Given the description of an element on the screen output the (x, y) to click on. 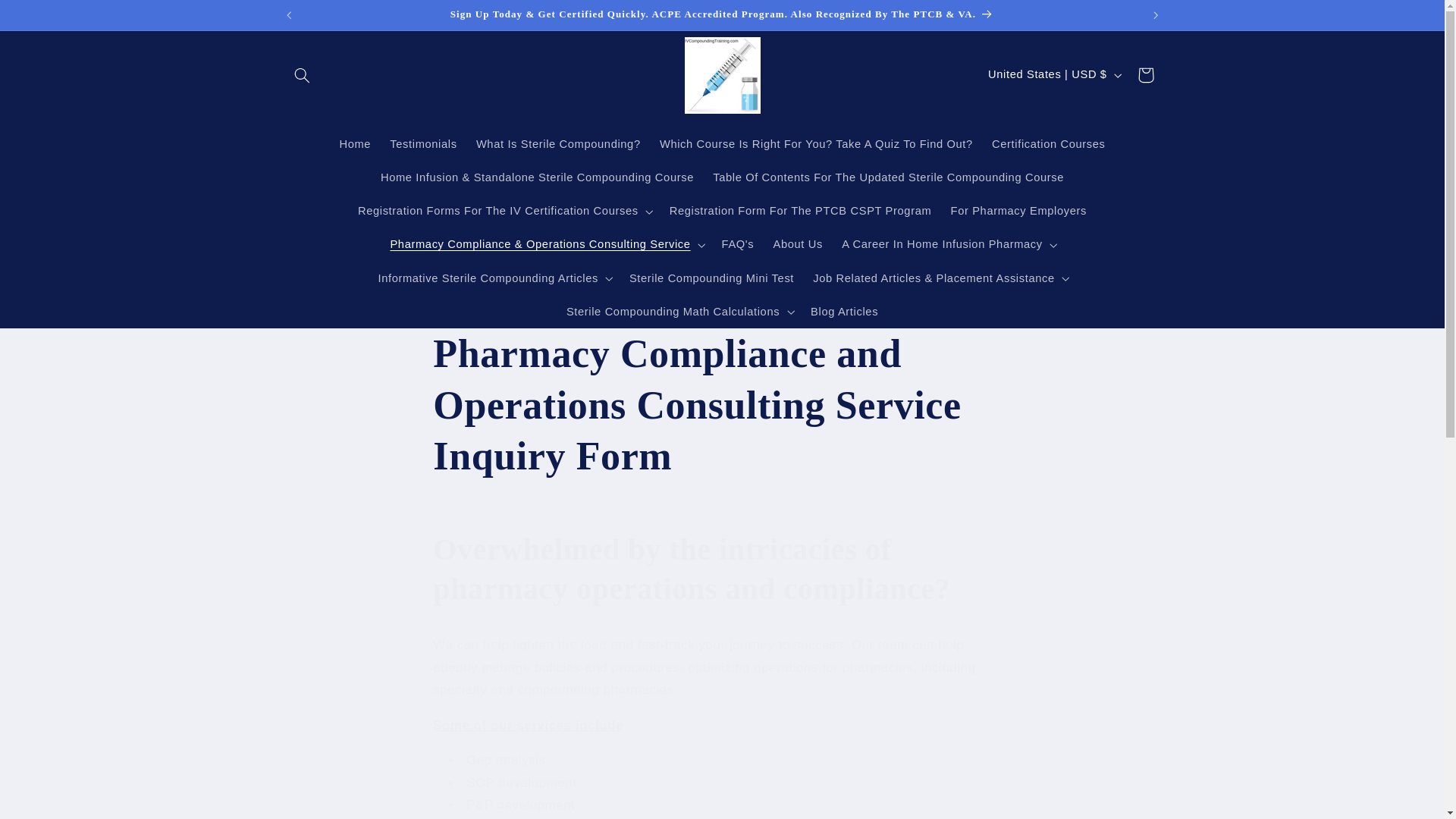
Skip to content (48, 18)
